Given the description of an element on the screen output the (x, y) to click on. 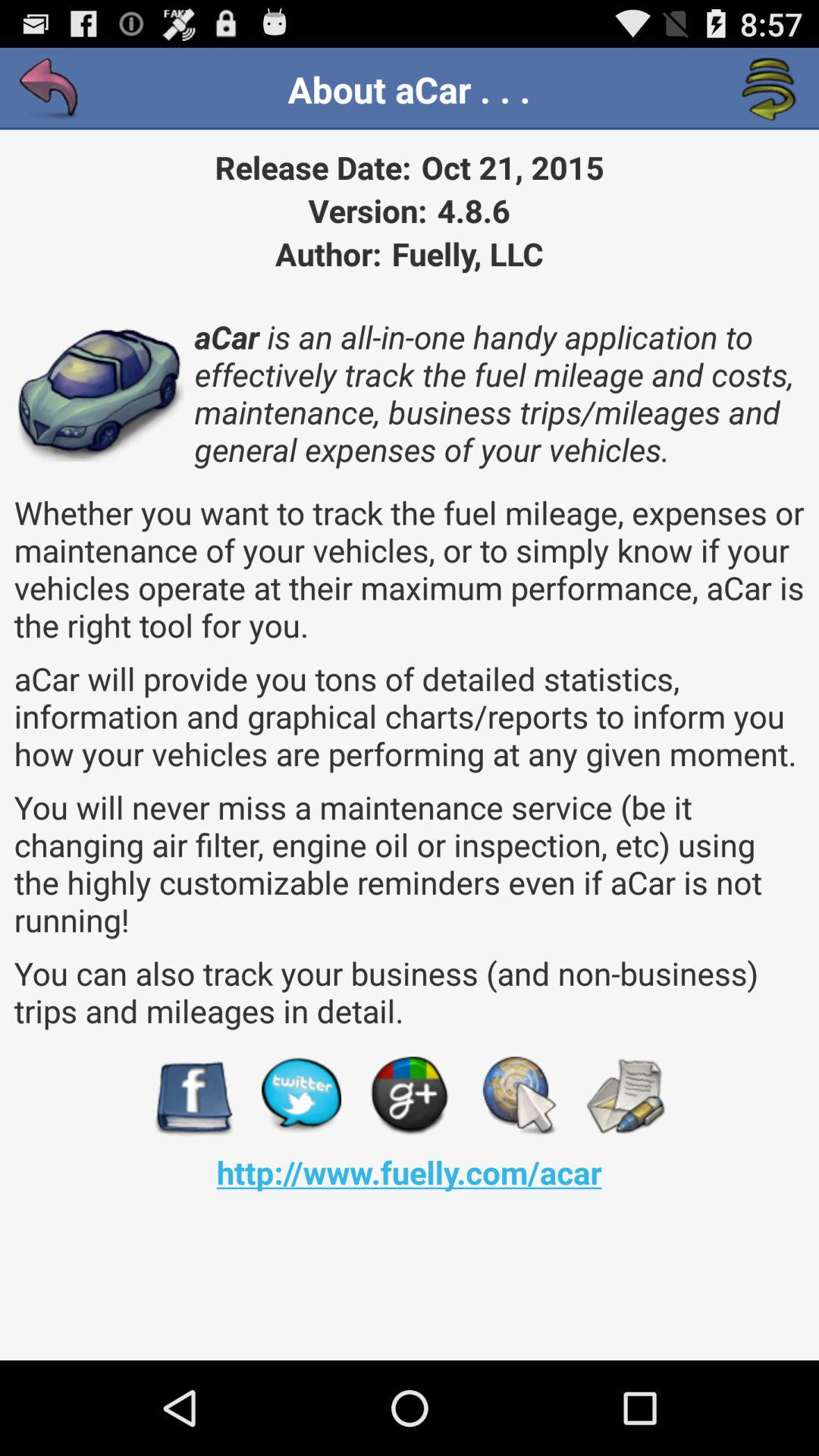
choose icon above acar is an icon (768, 89)
